Given the description of an element on the screen output the (x, y) to click on. 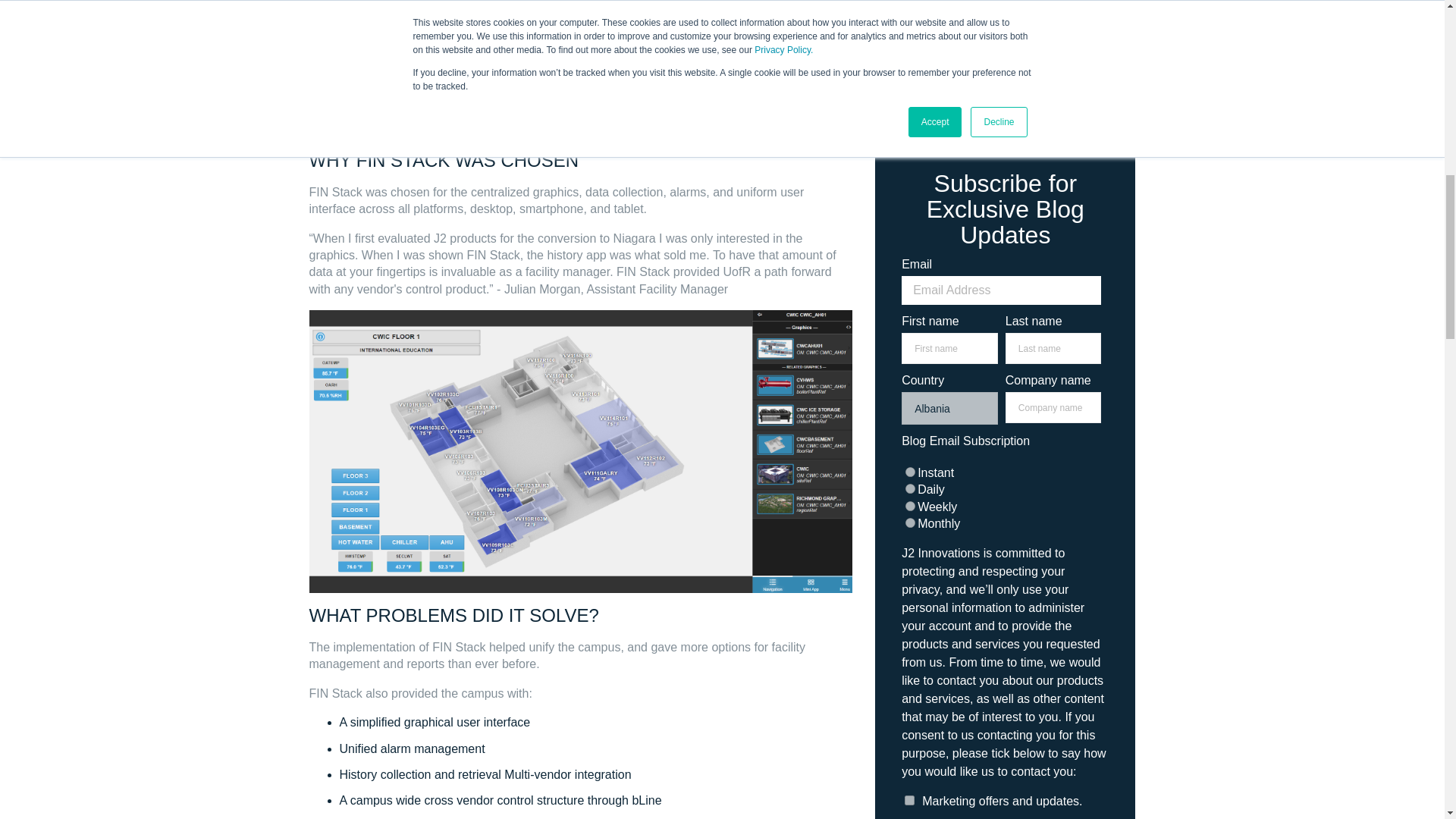
monthly (910, 522)
true (909, 800)
true (906, 8)
instant (910, 471)
daily (910, 488)
Submit (1004, 89)
weekly (910, 506)
